Given the description of an element on the screen output the (x, y) to click on. 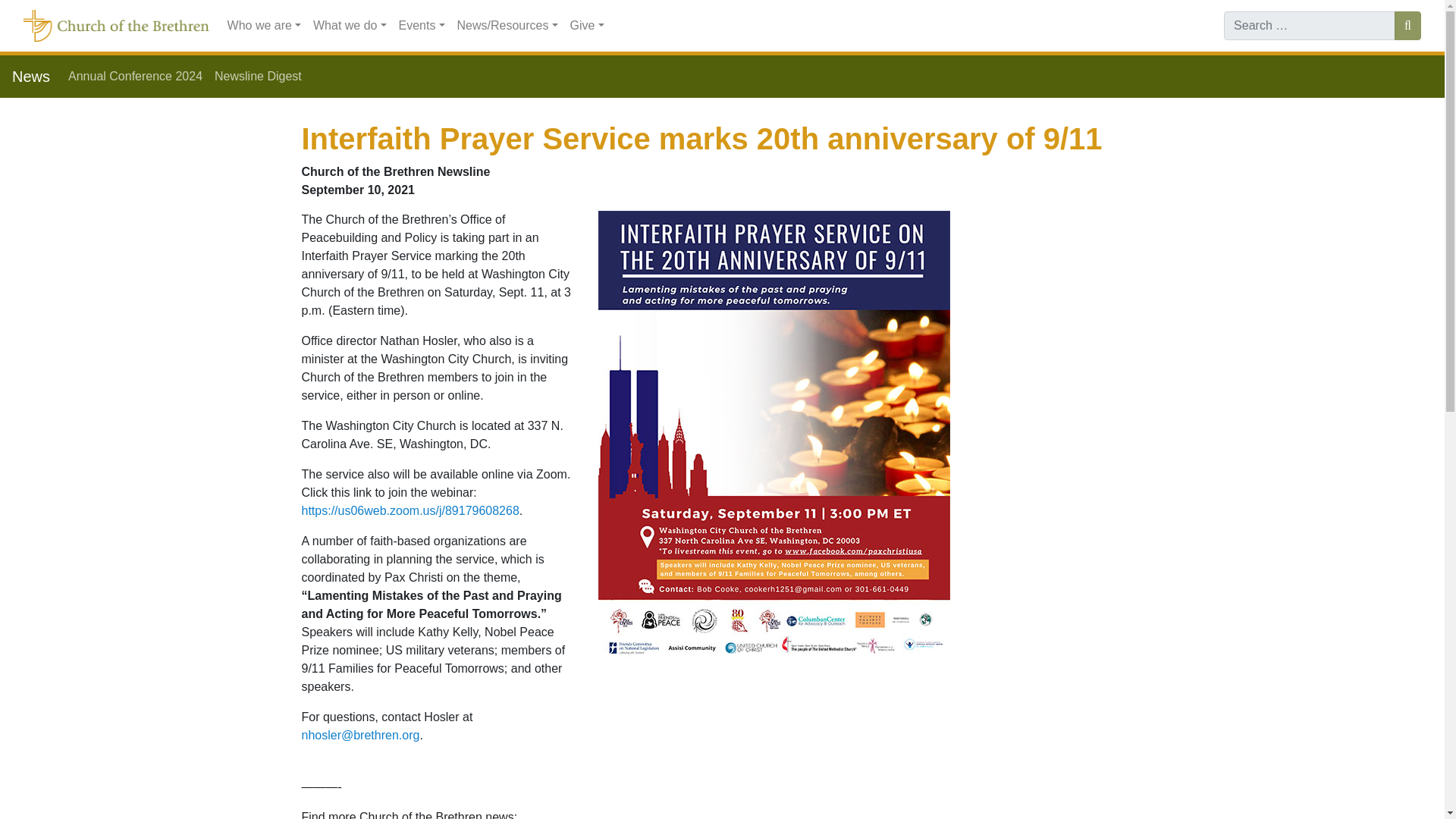
What we do (350, 25)
Events (422, 25)
Who we are (264, 25)
Who we are (264, 25)
What we do (350, 25)
